Given the description of an element on the screen output the (x, y) to click on. 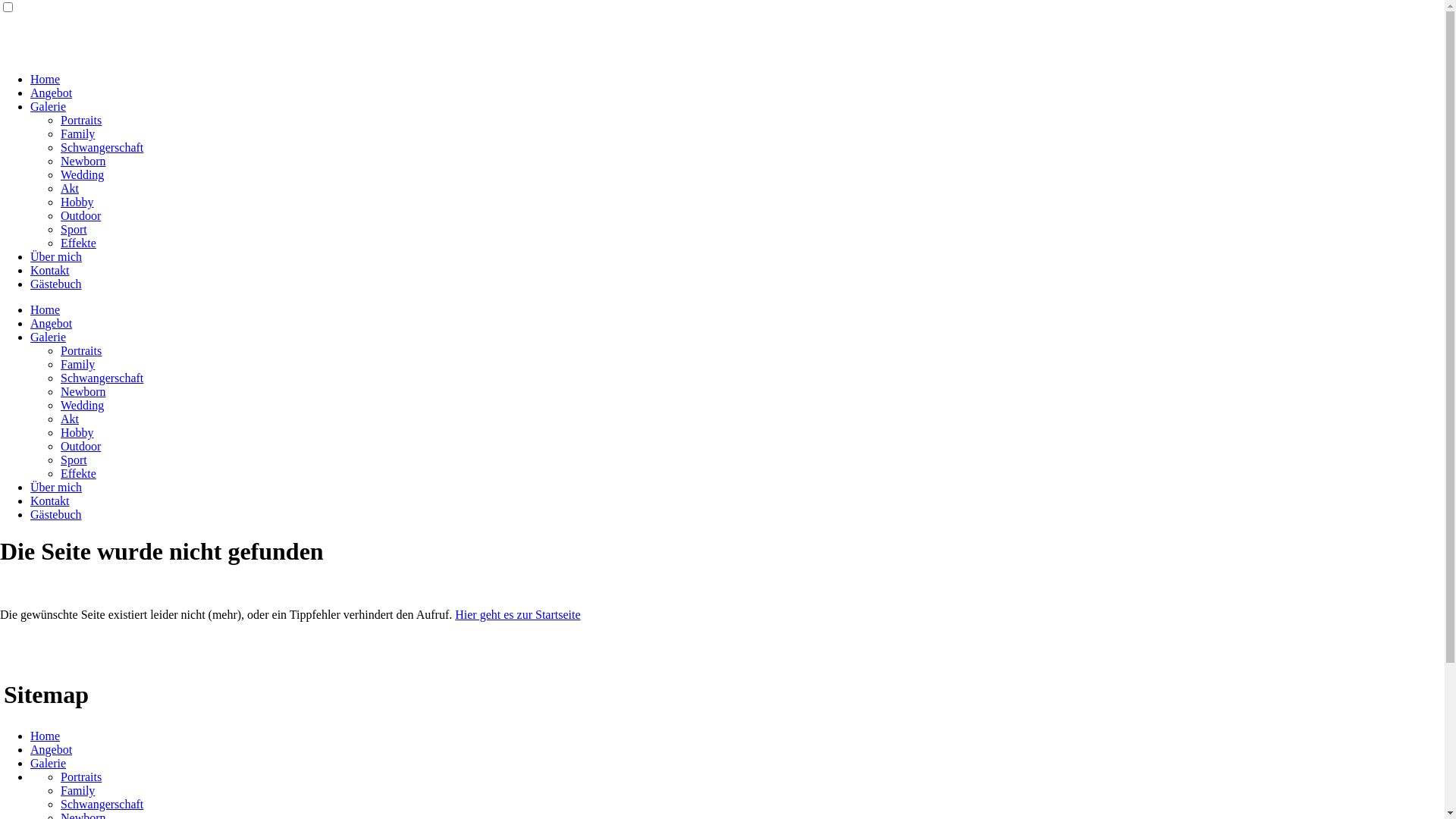
Kontakt Element type: text (49, 500)
Outdoor Element type: text (80, 215)
Portraits Element type: text (80, 350)
Galerie Element type: text (47, 762)
Family Element type: text (77, 363)
Effekte Element type: text (78, 473)
Effekte Element type: text (78, 242)
Kontakt Element type: text (49, 269)
Schwangerschaft Element type: text (101, 147)
Angebot Element type: text (51, 749)
Wedding Element type: text (81, 404)
Akt Element type: text (69, 418)
Sport Element type: text (73, 228)
Family Element type: text (77, 133)
Family Element type: text (77, 790)
Galerie Element type: text (47, 106)
Galerie Element type: text (47, 336)
Wedding Element type: text (81, 174)
Home Element type: text (44, 309)
Sport Element type: text (73, 459)
Hier geht es zur Startseite Element type: text (517, 614)
Hobby Element type: text (77, 432)
Home Element type: text (44, 735)
Newborn Element type: text (83, 160)
Portraits Element type: text (80, 119)
Schwangerschaft Element type: text (101, 803)
Home Element type: text (44, 78)
Akt Element type: text (69, 188)
Portraits Element type: text (80, 776)
Angebot Element type: text (51, 92)
Newborn Element type: text (83, 391)
Outdoor Element type: text (80, 445)
Hobby Element type: text (77, 201)
Schwangerschaft Element type: text (101, 377)
Angebot Element type: text (51, 322)
